Given the description of an element on the screen output the (x, y) to click on. 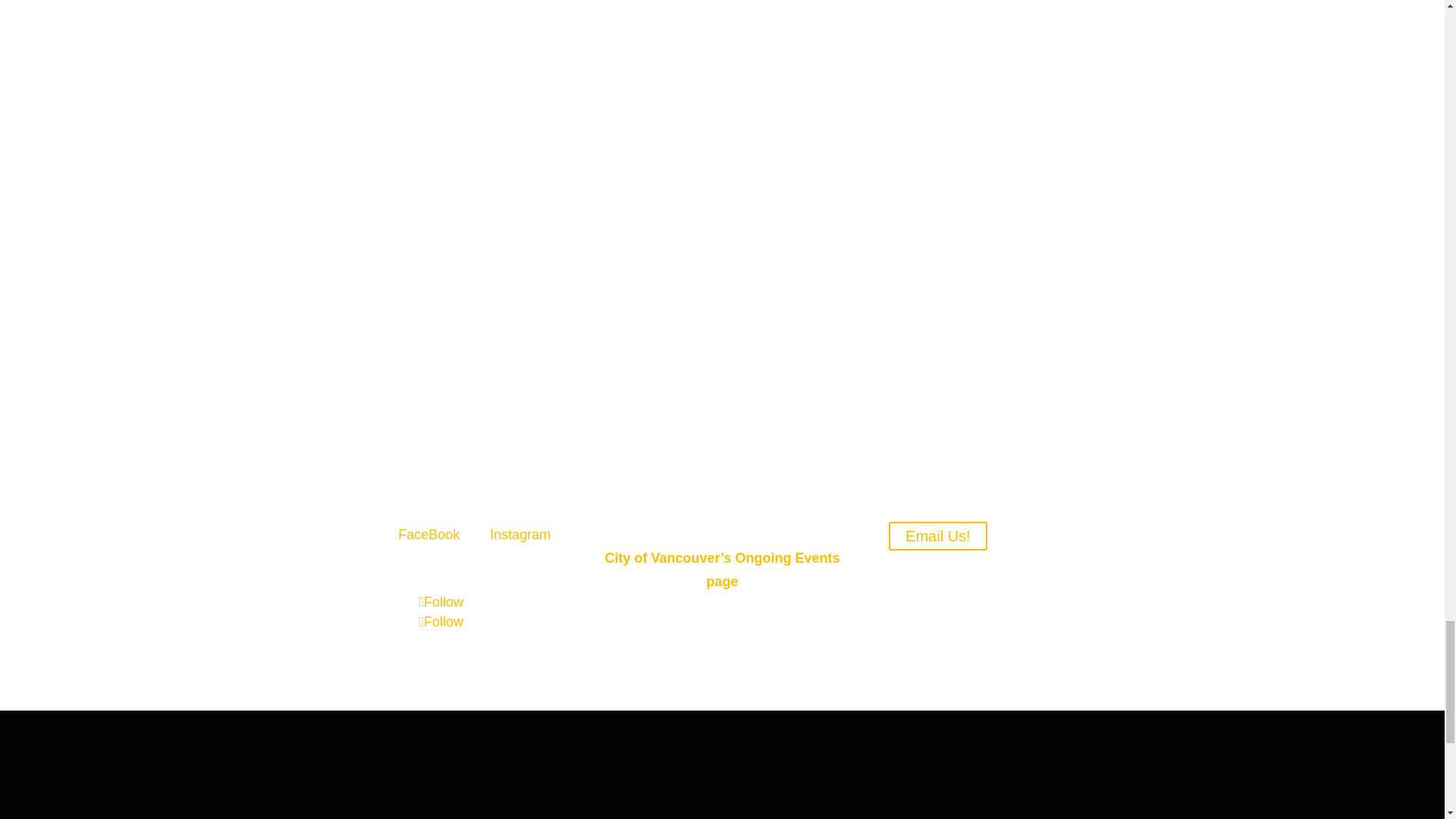
Follow (441, 621)
Follow on Instagram (441, 621)
Instagram (519, 534)
Follow on Facebook (441, 601)
FaceBook (428, 534)
Email Us! (937, 535)
Follow (441, 601)
